Given the description of an element on the screen output the (x, y) to click on. 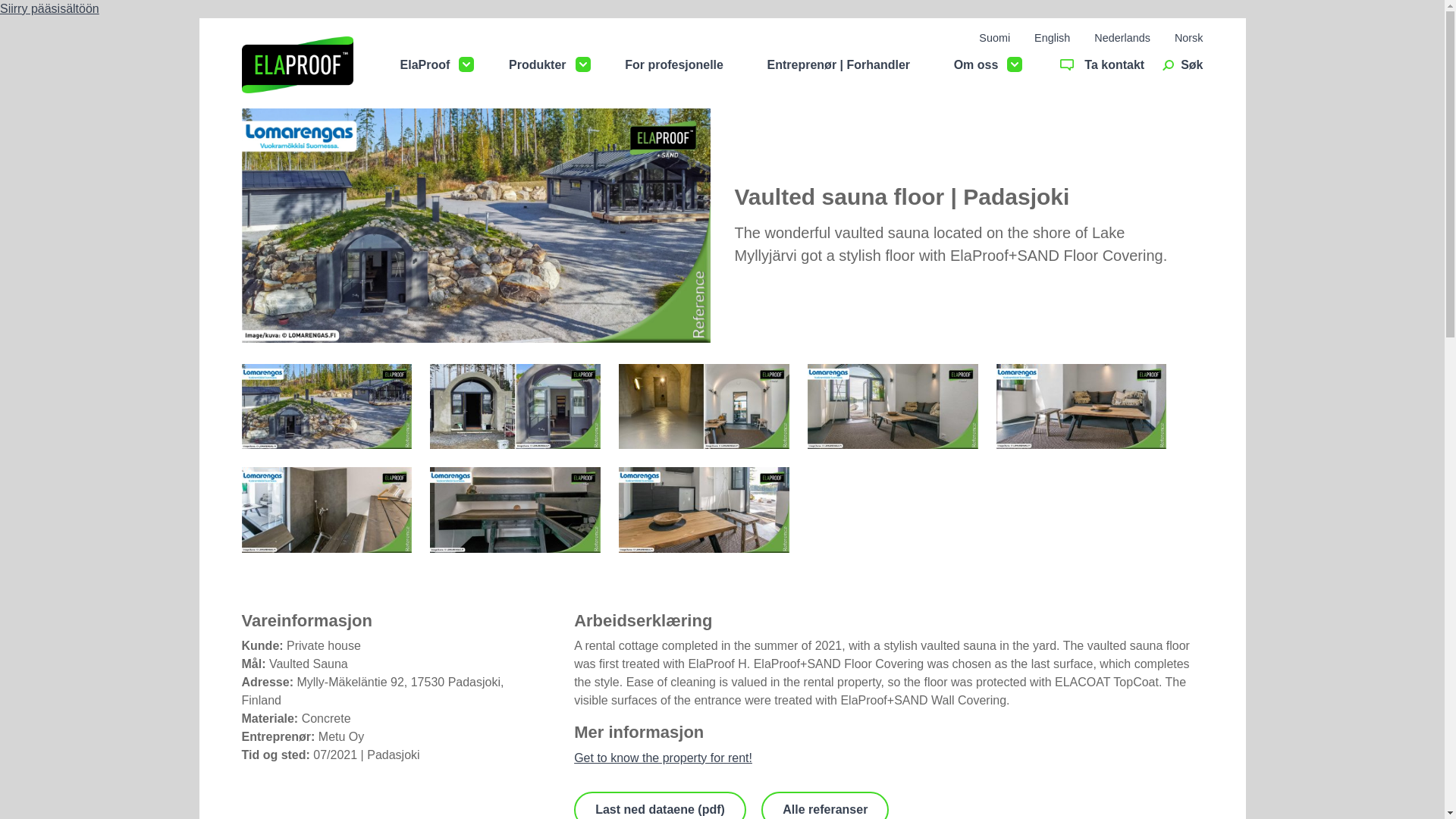
ElaProof (425, 65)
English (1051, 37)
Norsk (1189, 37)
Nederlands (1122, 37)
Suomi (994, 37)
